Given the description of an element on the screen output the (x, y) to click on. 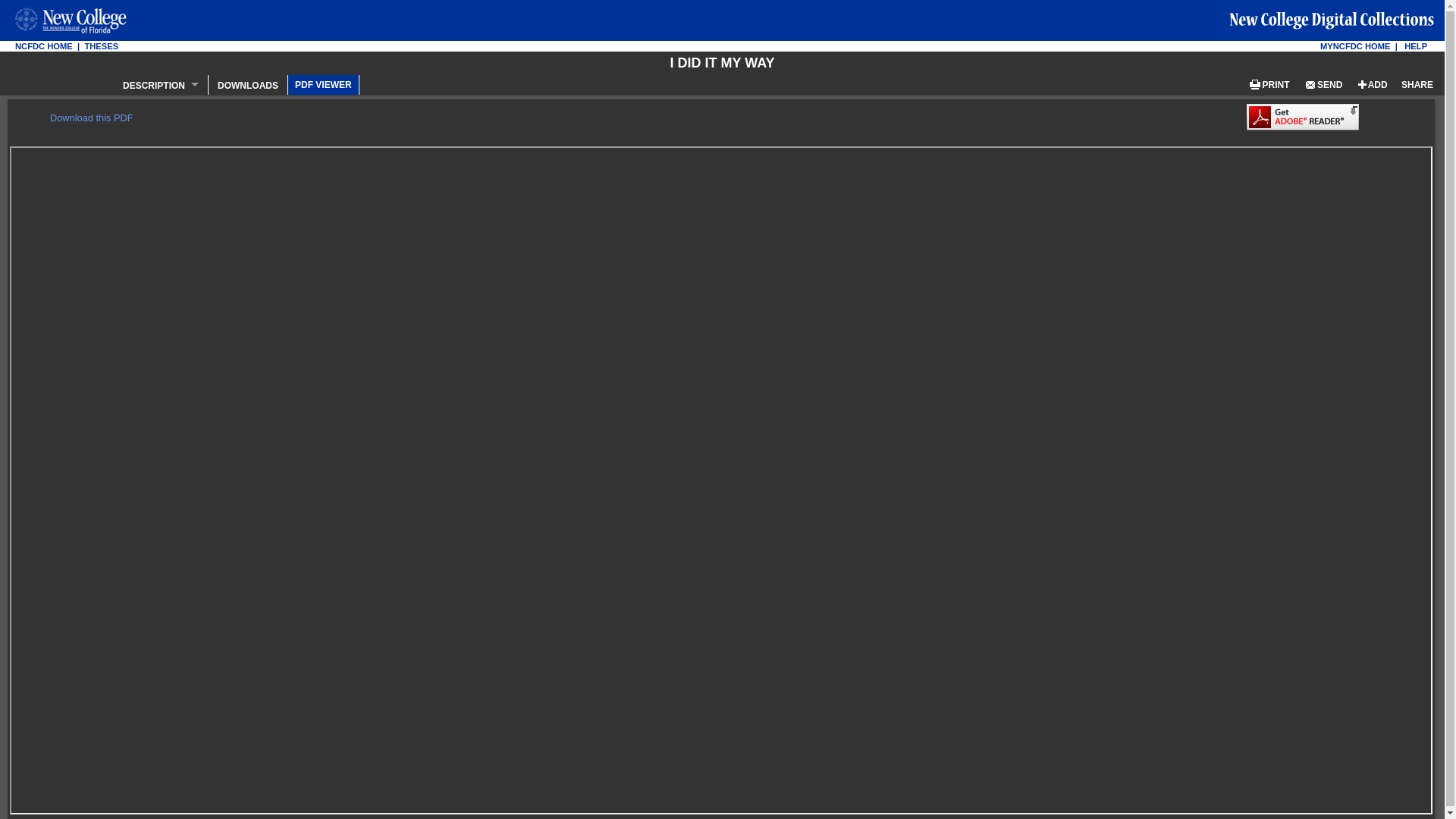
Download this PDF (91, 117)
DESCRIPTION (160, 84)
HELP (1415, 45)
DOWNLOADS (248, 84)
NCFDC HOME (43, 45)
THESES (100, 45)
MYNCFDC HOME (1355, 45)
